Given the description of an element on the screen output the (x, y) to click on. 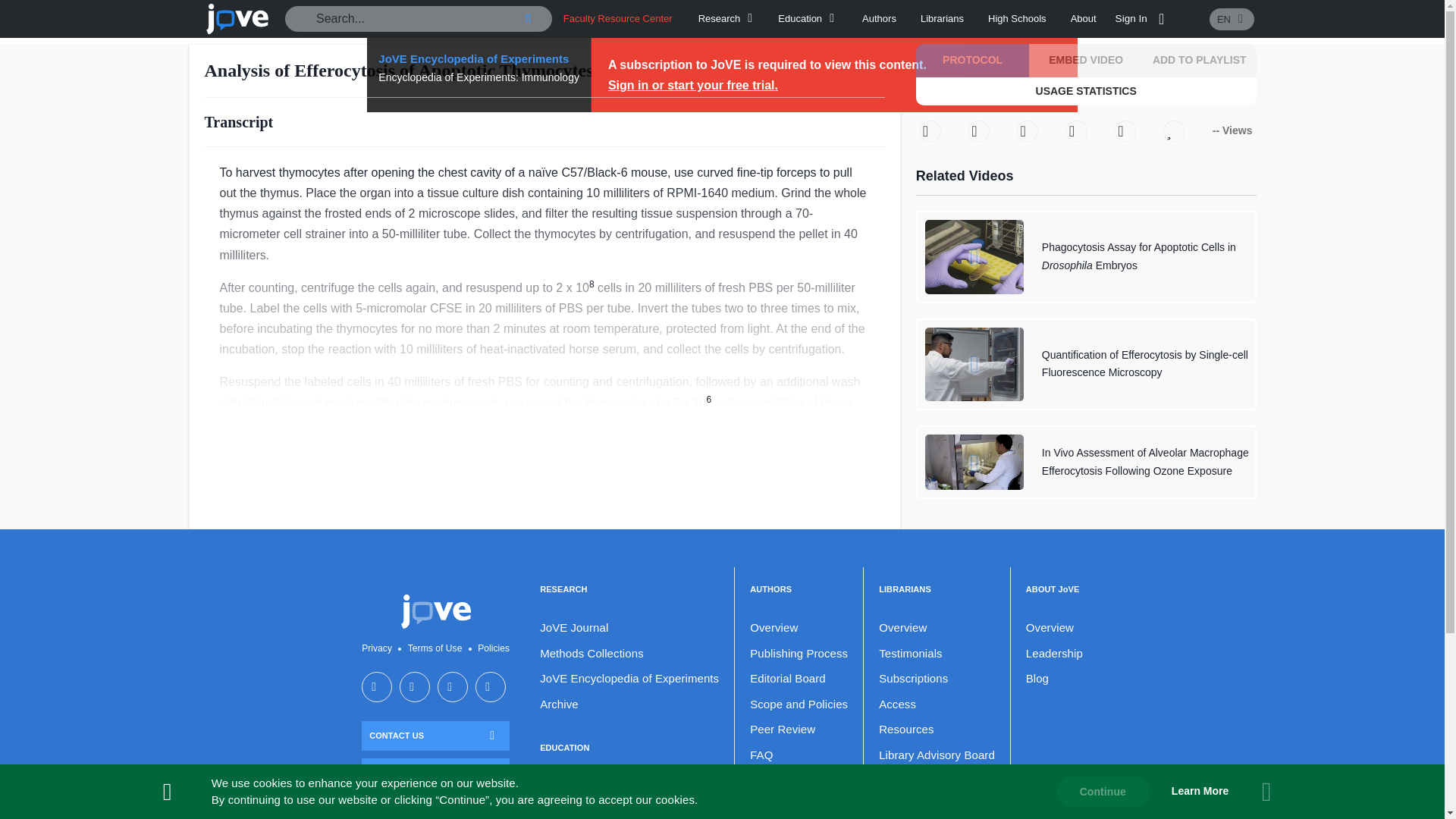
Facebook (979, 130)
Share (1125, 130)
JoVE Encyclopedia of Experiments (478, 58)
PROTOCOL (972, 60)
WeChat (1076, 130)
EN (1231, 18)
Sign in or start your free trial. (692, 85)
Add to Favorites (1174, 130)
Twitter (930, 130)
Research (727, 18)
